Given the description of an element on the screen output the (x, y) to click on. 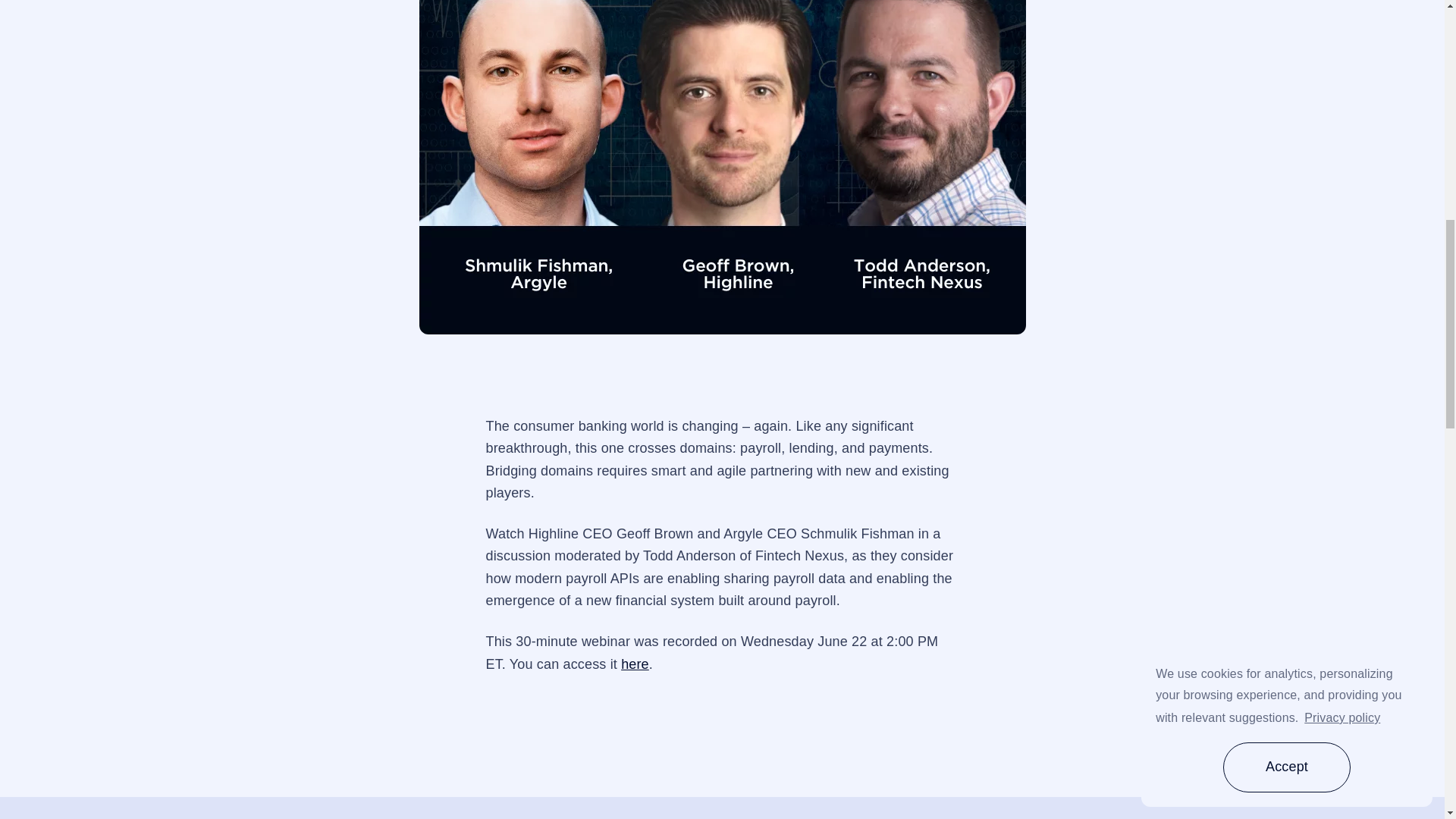
here (635, 663)
